Given the description of an element on the screen output the (x, y) to click on. 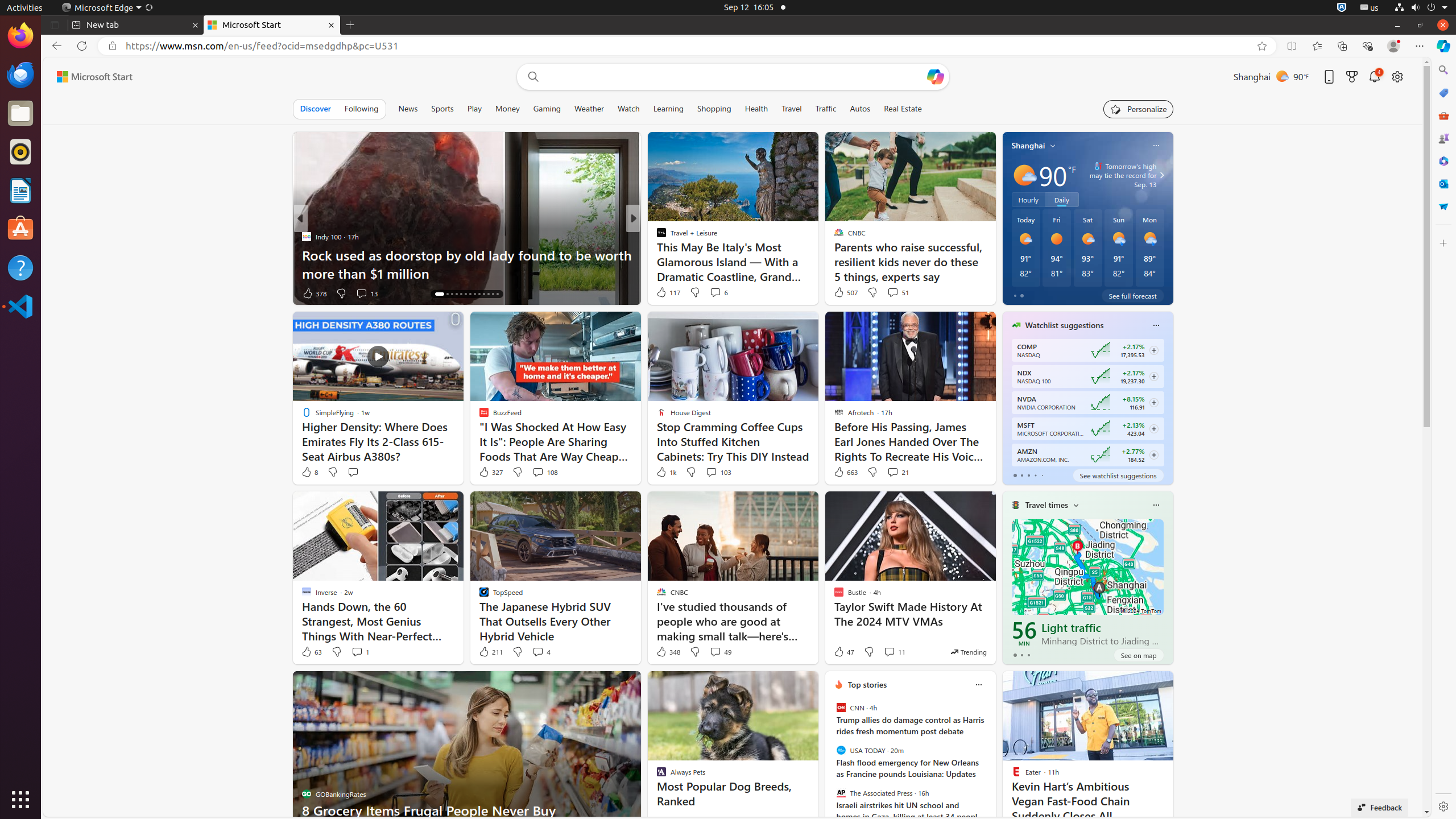
Help Element type: link (1297, 809)
View comments 37 Comment Element type: link (716, 292)
tab-2 Element type: page-tab (1028, 655)
View comments 7 Comment Element type: push-button (711, 293)
Drop Element type: push-button (1443, 206)
